Given the description of an element on the screen output the (x, y) to click on. 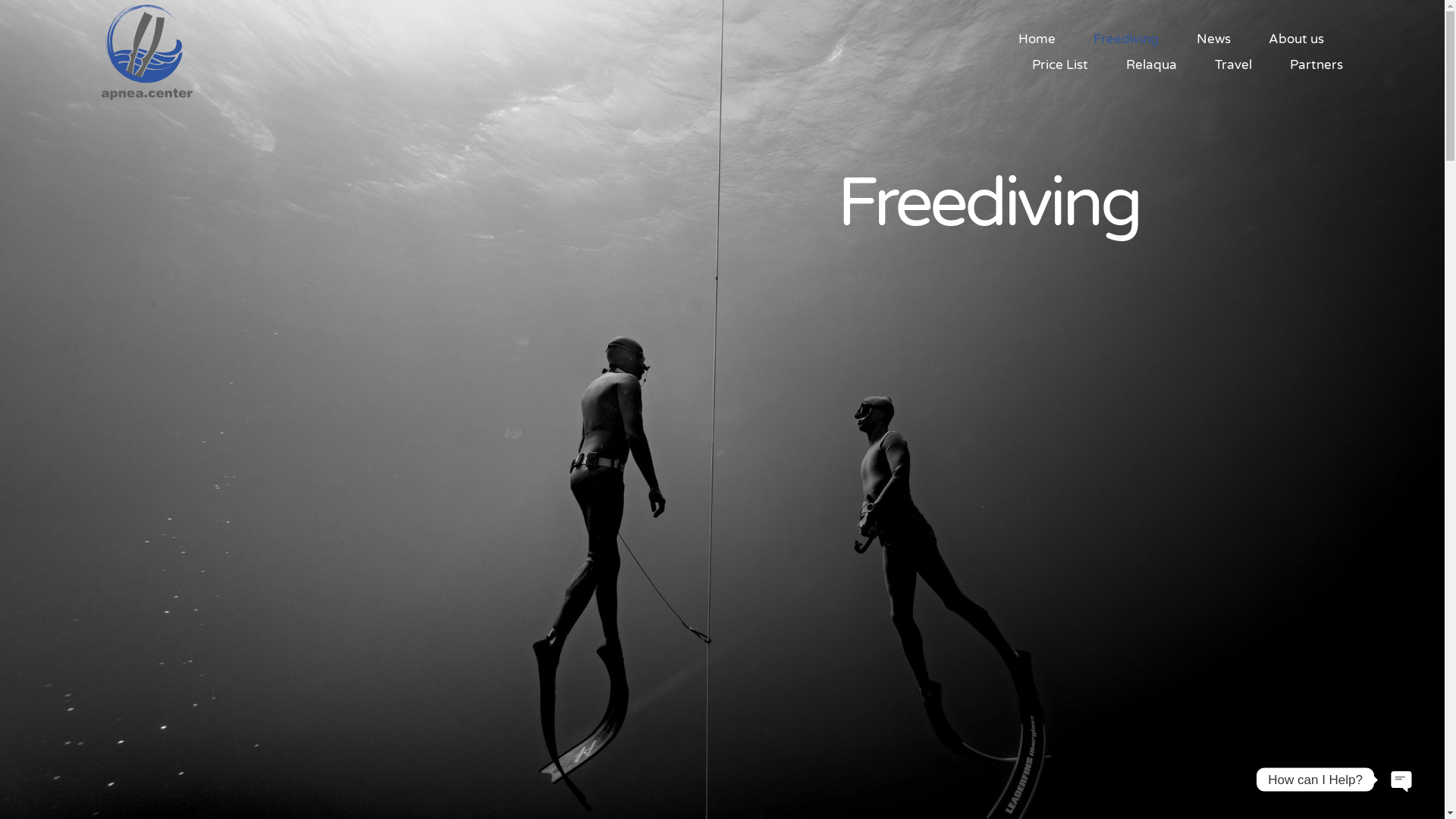
Travel Element type: text (1233, 64)
Relaqua Element type: text (1151, 64)
About us Element type: text (1296, 38)
Partners Element type: text (1316, 64)
Price List Element type: text (1060, 64)
News Element type: text (1213, 38)
Freediving Element type: text (1125, 38)
Home Element type: text (1036, 38)
